Given the description of an element on the screen output the (x, y) to click on. 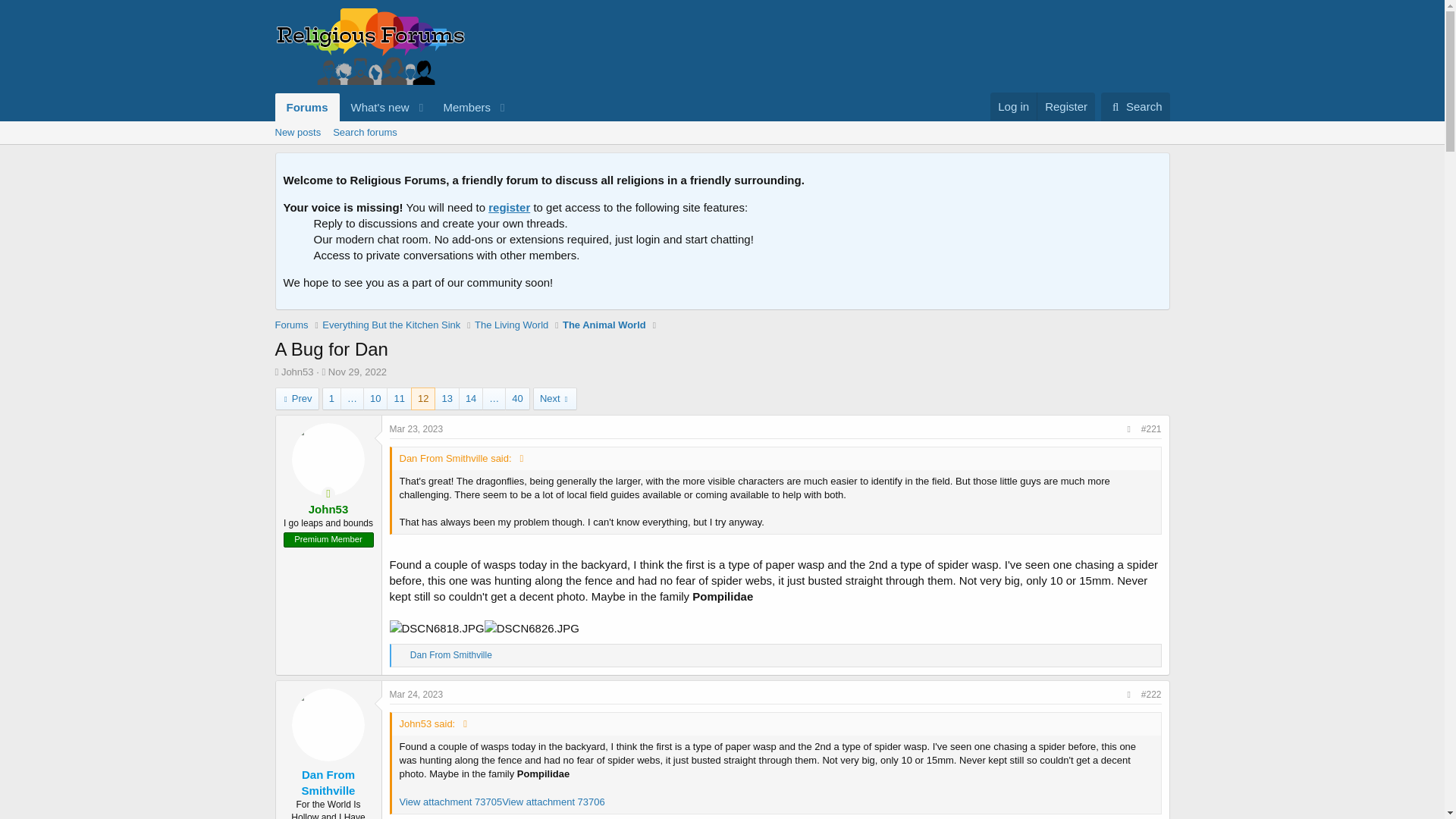
Like (401, 655)
Go to page (351, 398)
Search (1135, 106)
New posts (296, 132)
Mar 23, 2023 at 10:19 PM (417, 429)
Members (392, 107)
register (720, 132)
Go to page (461, 107)
